Given the description of an element on the screen output the (x, y) to click on. 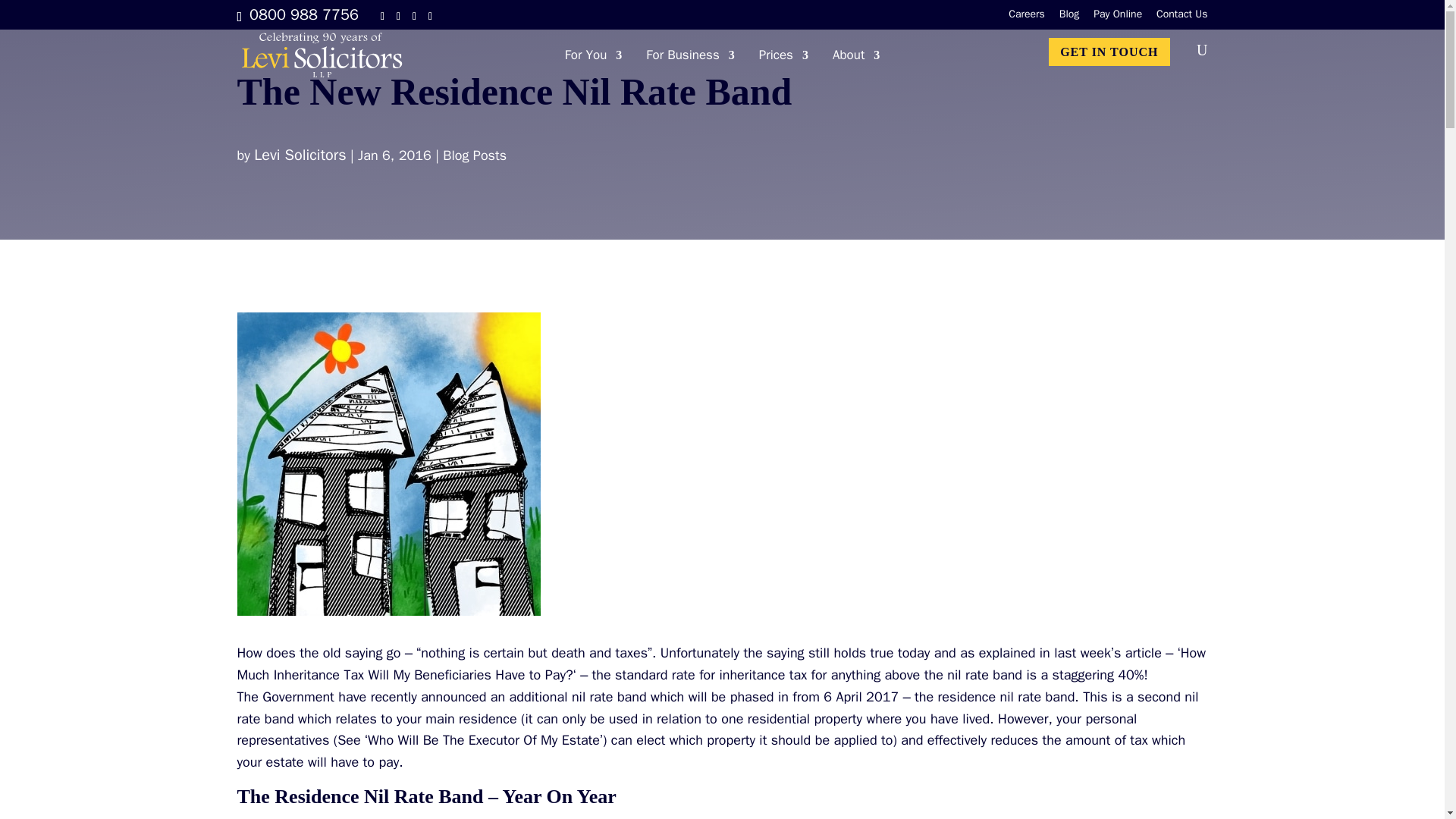
Prices (783, 68)
Posts by Levi Solicitors (299, 154)
Pay Online (1117, 18)
For Business (689, 68)
Blog (1069, 18)
GET IN TOUCH (1108, 51)
For You (593, 68)
Residence Nil Rate Band (387, 463)
Careers (1027, 18)
Contact Us (1181, 18)
